Given the description of an element on the screen output the (x, y) to click on. 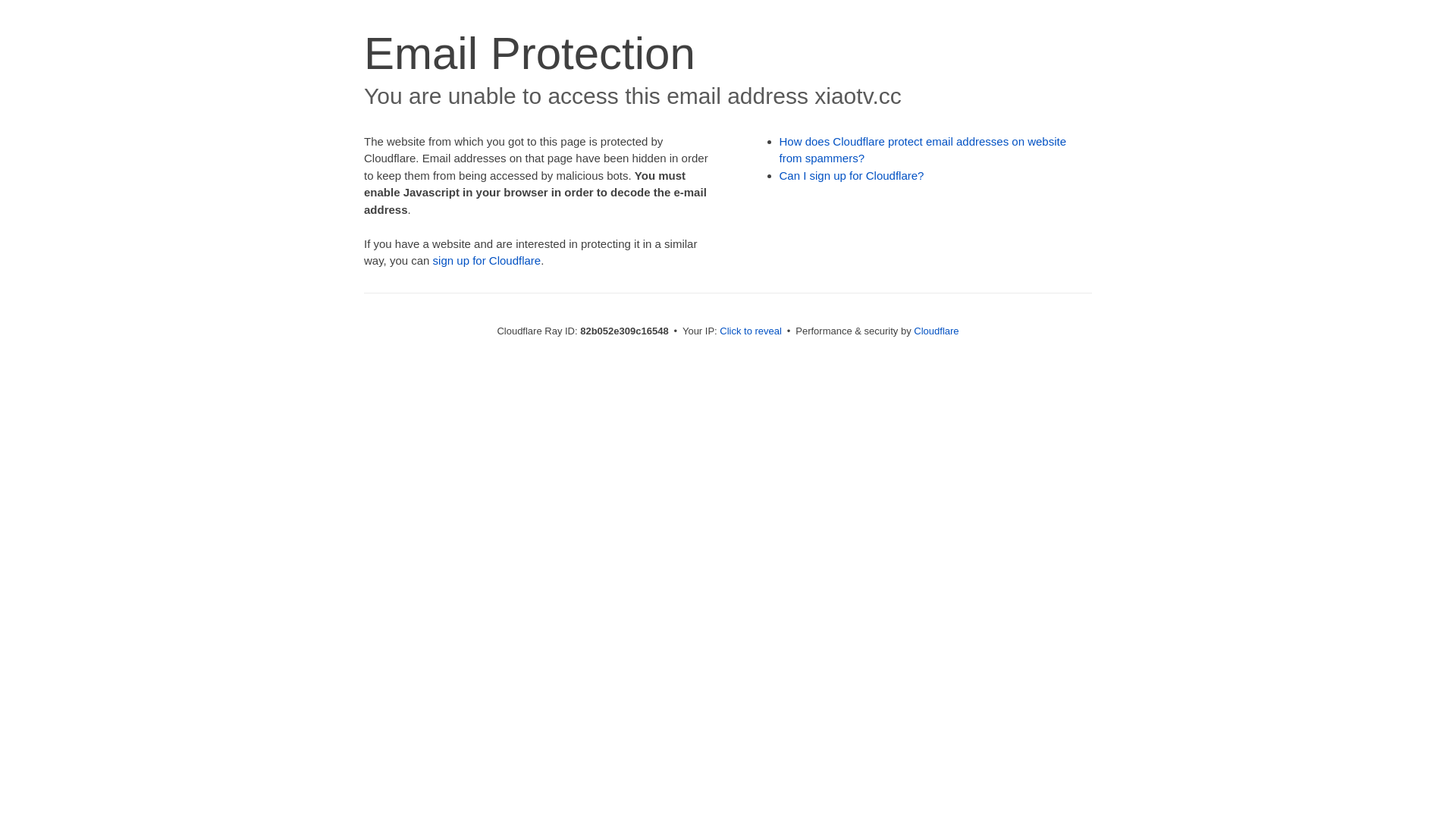
sign up for Cloudflare Element type: text (487, 260)
Cloudflare Element type: text (935, 330)
Click to reveal Element type: text (750, 330)
Can I sign up for Cloudflare? Element type: text (851, 175)
